Given the description of an element on the screen output the (x, y) to click on. 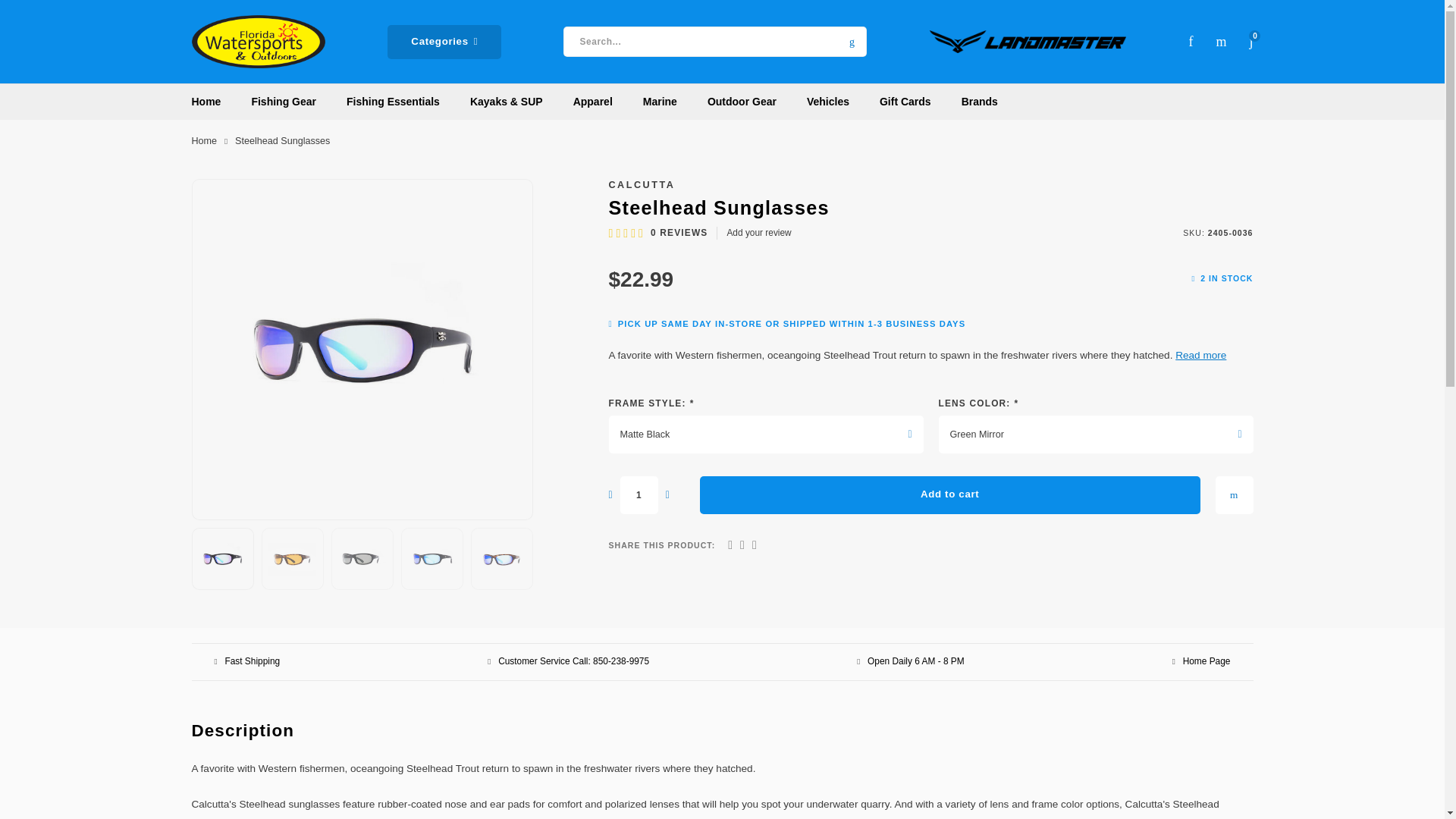
Custom (1028, 41)
Calcutta Steelhead Sunglasses (292, 558)
Home (203, 141)
Calcutta Steelhead Sunglasses (432, 558)
Search (850, 41)
Calcutta Steelhead Sunglasses (362, 558)
Calcutta Steelhead Sunglasses (361, 349)
Calcutta Steelhead Sunglasses (501, 558)
1 (639, 494)
Calcutta Steelhead Sunglasses (222, 558)
